Given the description of an element on the screen output the (x, y) to click on. 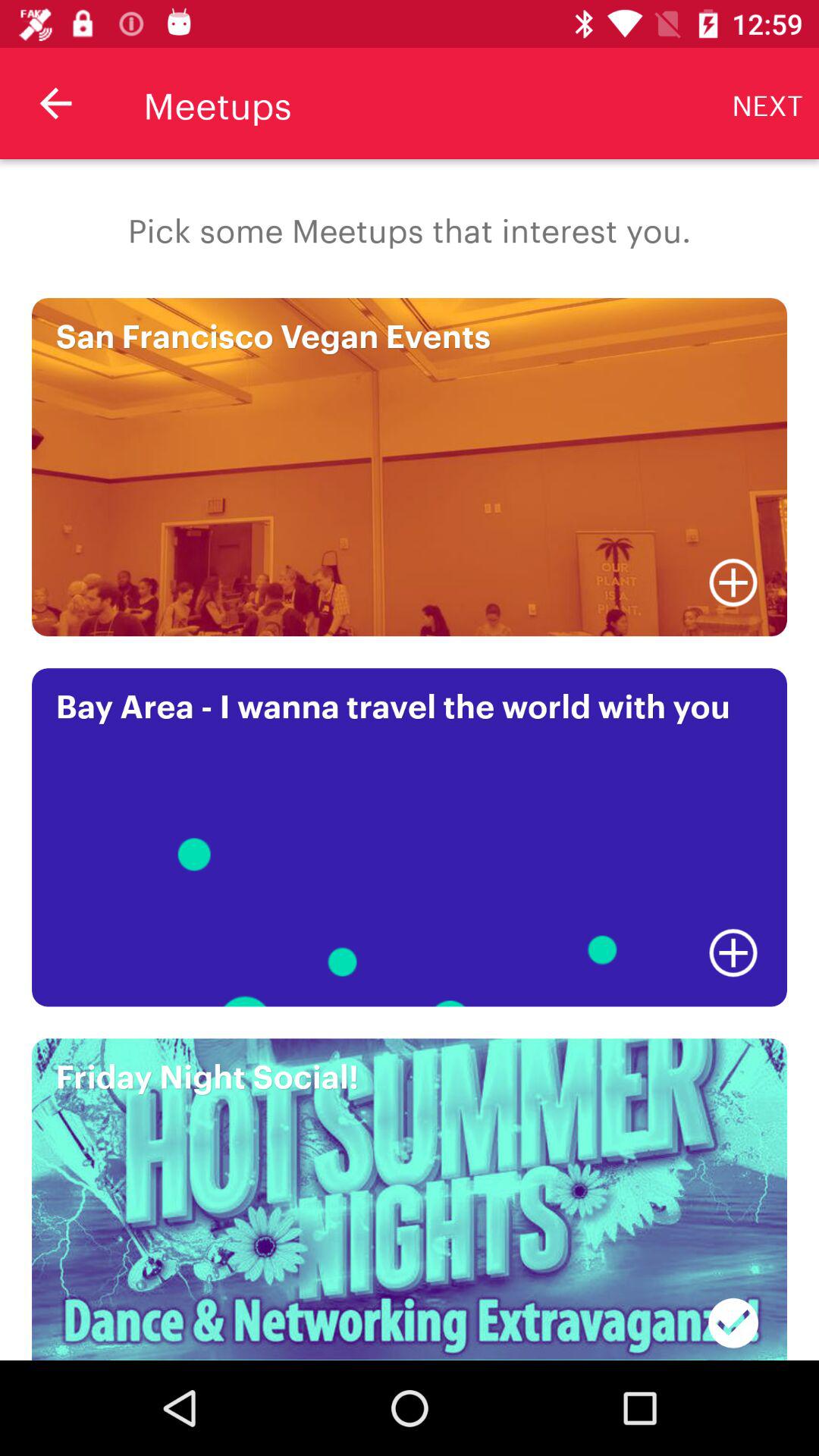
enlarges an event description (733, 952)
